Given the description of an element on the screen output the (x, y) to click on. 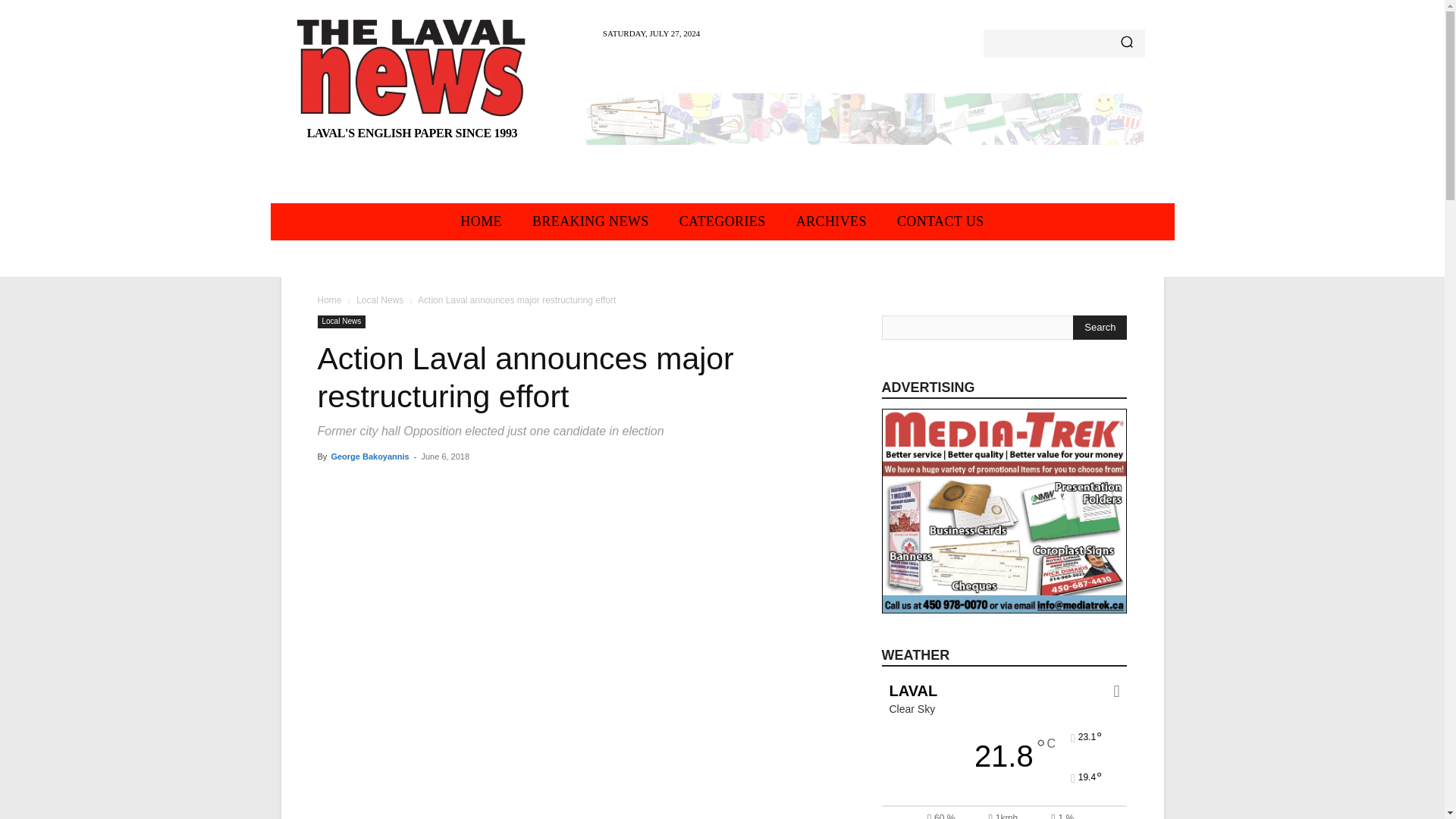
ARCHIVES (831, 221)
CONTACT US (940, 221)
Logo of The Laval News (412, 83)
LAVAL'S ENGLISH PAPER SINCE 1993 (412, 83)
Logo of The Laval News (412, 67)
View all posts in Local News (379, 299)
Search (1099, 327)
BREAKING NEWS (589, 221)
HOME (480, 221)
topFacebookLike (430, 483)
CATEGORIES (721, 221)
